Given the description of an element on the screen output the (x, y) to click on. 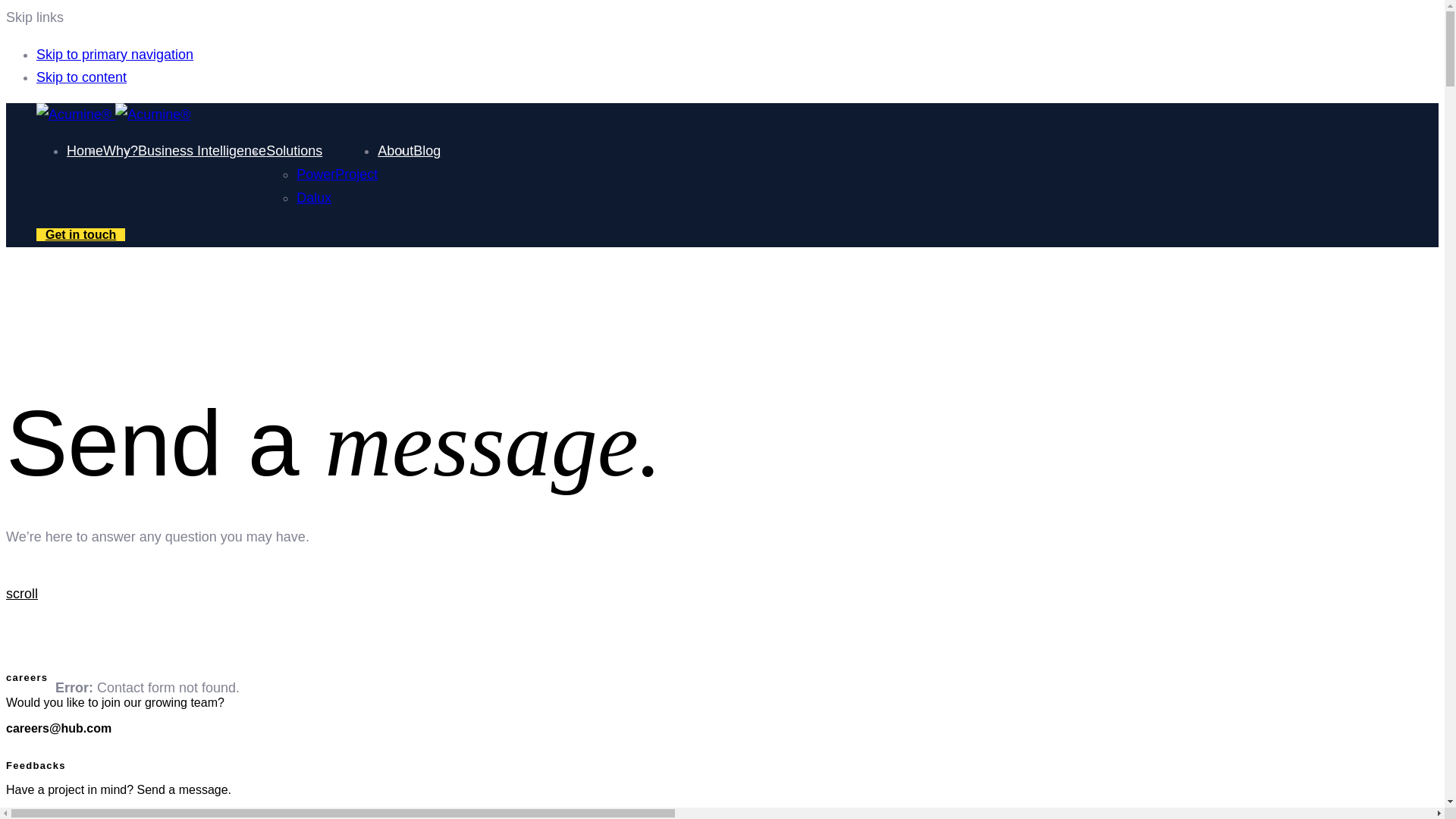
Solutions (293, 150)
scroll (21, 593)
Dalux (314, 197)
Home (84, 150)
PowerProject (337, 174)
Skip to content (81, 77)
Skip to primary navigation (114, 54)
scroll (650, 594)
Business Intelligence (202, 150)
Why? (120, 150)
Blog (427, 150)
Get in touch (80, 234)
Contact (80, 234)
About (395, 150)
